Given the description of an element on the screen output the (x, y) to click on. 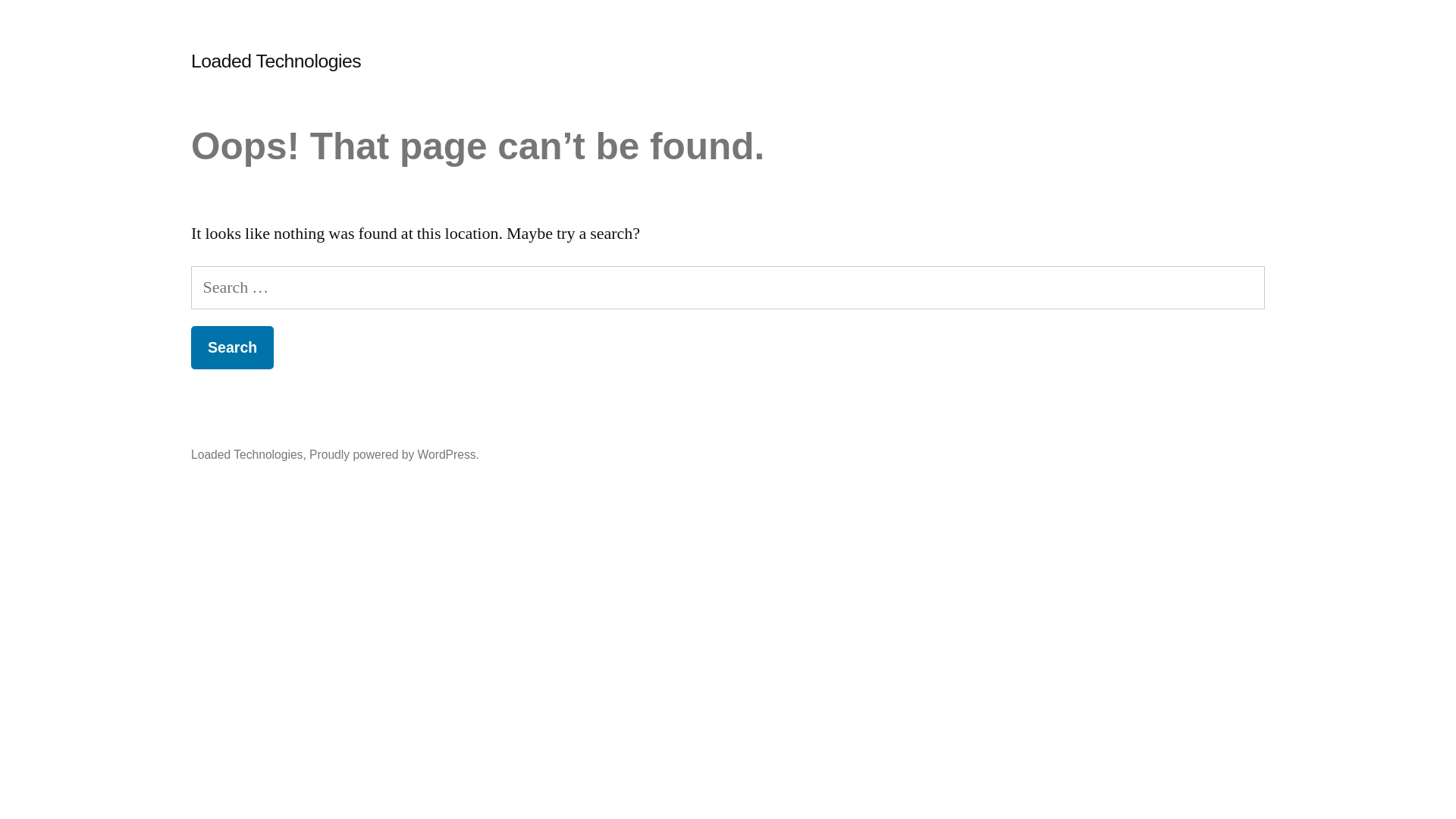
Loaded Technologies Element type: text (246, 454)
Proudly powered by WordPress. Element type: text (394, 454)
Search Element type: text (232, 347)
Loaded Technologies Element type: text (275, 60)
